Given the description of an element on the screen output the (x, y) to click on. 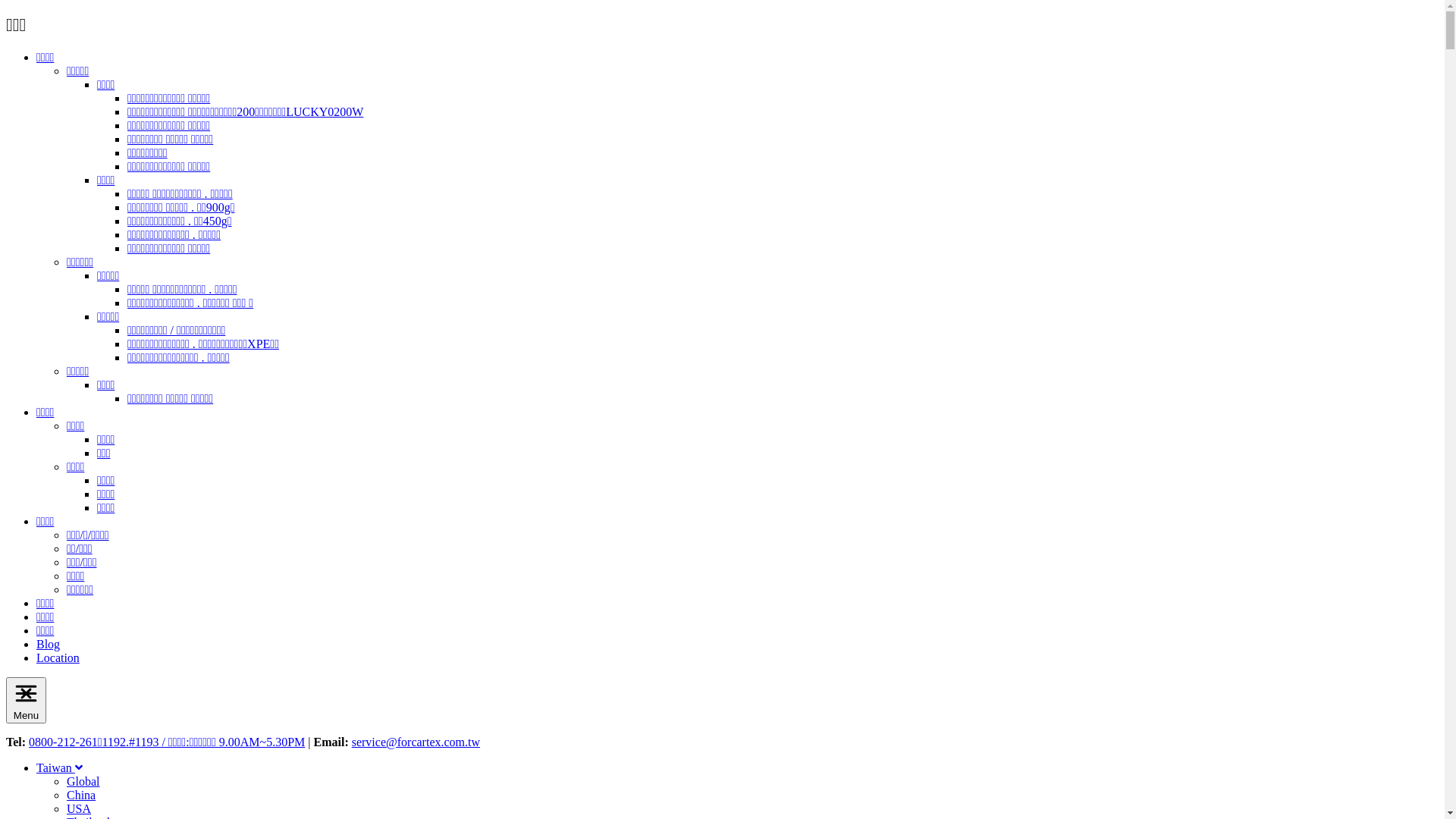
Location Element type: text (57, 657)
USA Element type: text (78, 808)
Global Element type: text (83, 781)
Taiwan Element type: text (59, 767)
service@forcartex.com.tw Element type: text (415, 741)
China Element type: text (80, 794)
Blog Element type: text (47, 643)
Menu Element type: text (26, 700)
